Given the description of an element on the screen output the (x, y) to click on. 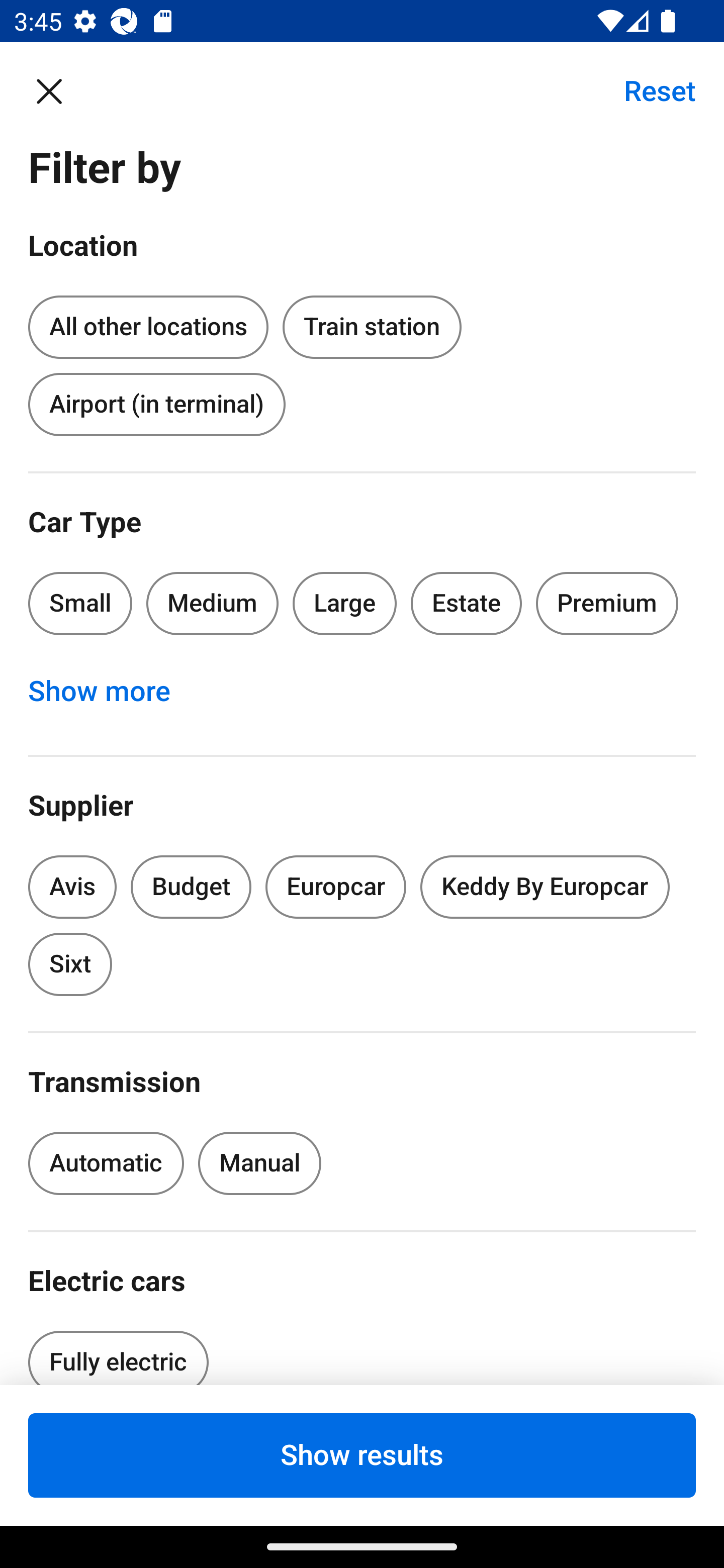
Close (59, 90)
Reset (649, 90)
All other locations (148, 323)
Train station (371, 327)
Airport (in terminal) (156, 404)
Small (80, 603)
Medium (212, 603)
Large (344, 603)
Estate (466, 603)
Premium (606, 603)
Show more (109, 691)
Avis (72, 887)
Budget (191, 887)
Europcar (335, 887)
Keddy By Europcar (544, 887)
Sixt (70, 963)
Automatic (105, 1163)
Manual (259, 1163)
Fully electric (118, 1352)
Show results (361, 1454)
